Given the description of an element on the screen output the (x, y) to click on. 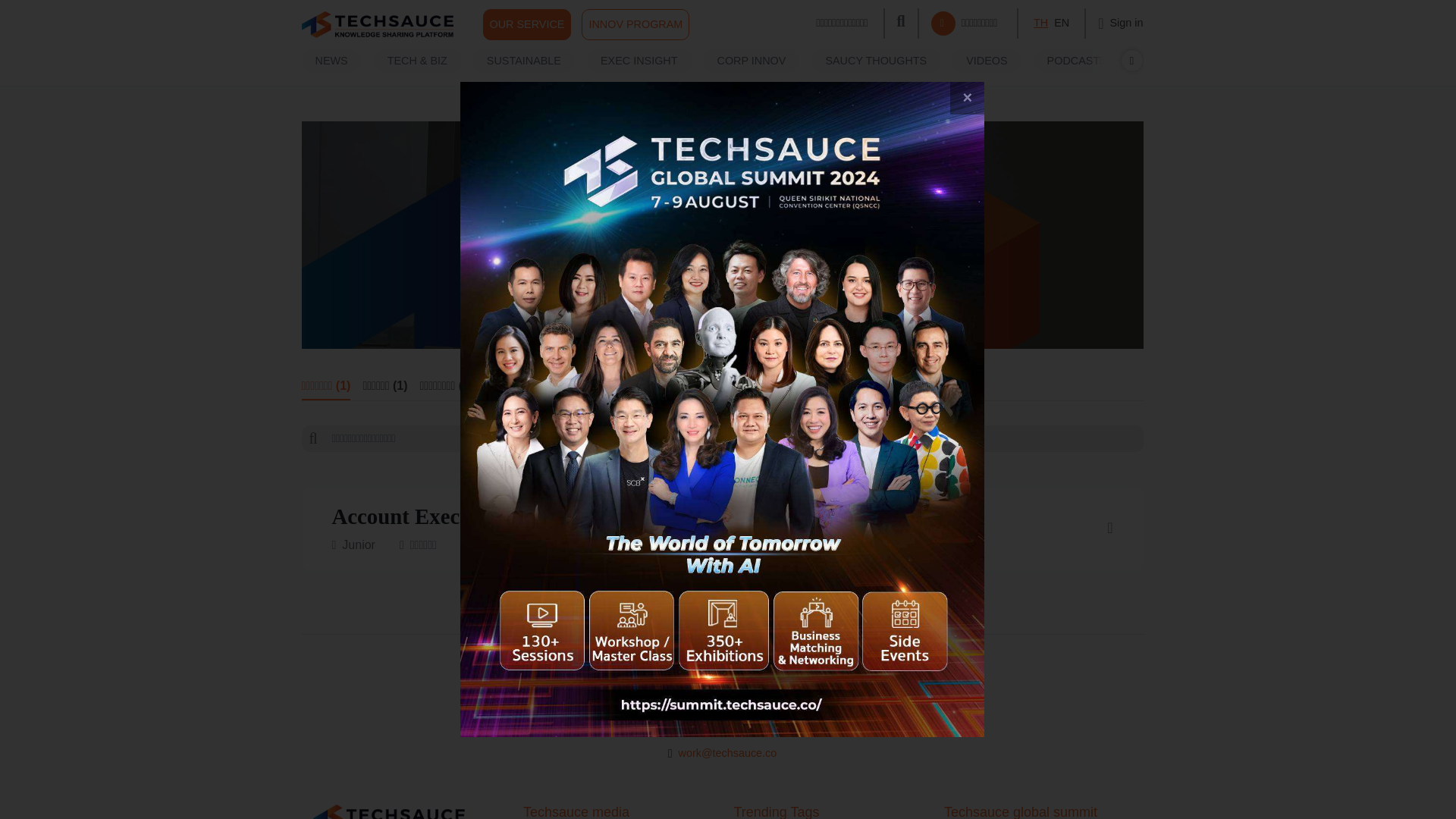
VIDEOS (986, 60)
PODCAST (1075, 60)
CORP INNOV (751, 60)
EXEC INSIGHT (638, 60)
OUR SERVICE (525, 24)
Sign in (1119, 22)
INNOV PROGRAM (634, 24)
STARTUP GUIDE (1186, 60)
SAUCY THOUGHTS (875, 60)
SUSTAINABLE (524, 60)
NEWS (331, 60)
